Given the description of an element on the screen output the (x, y) to click on. 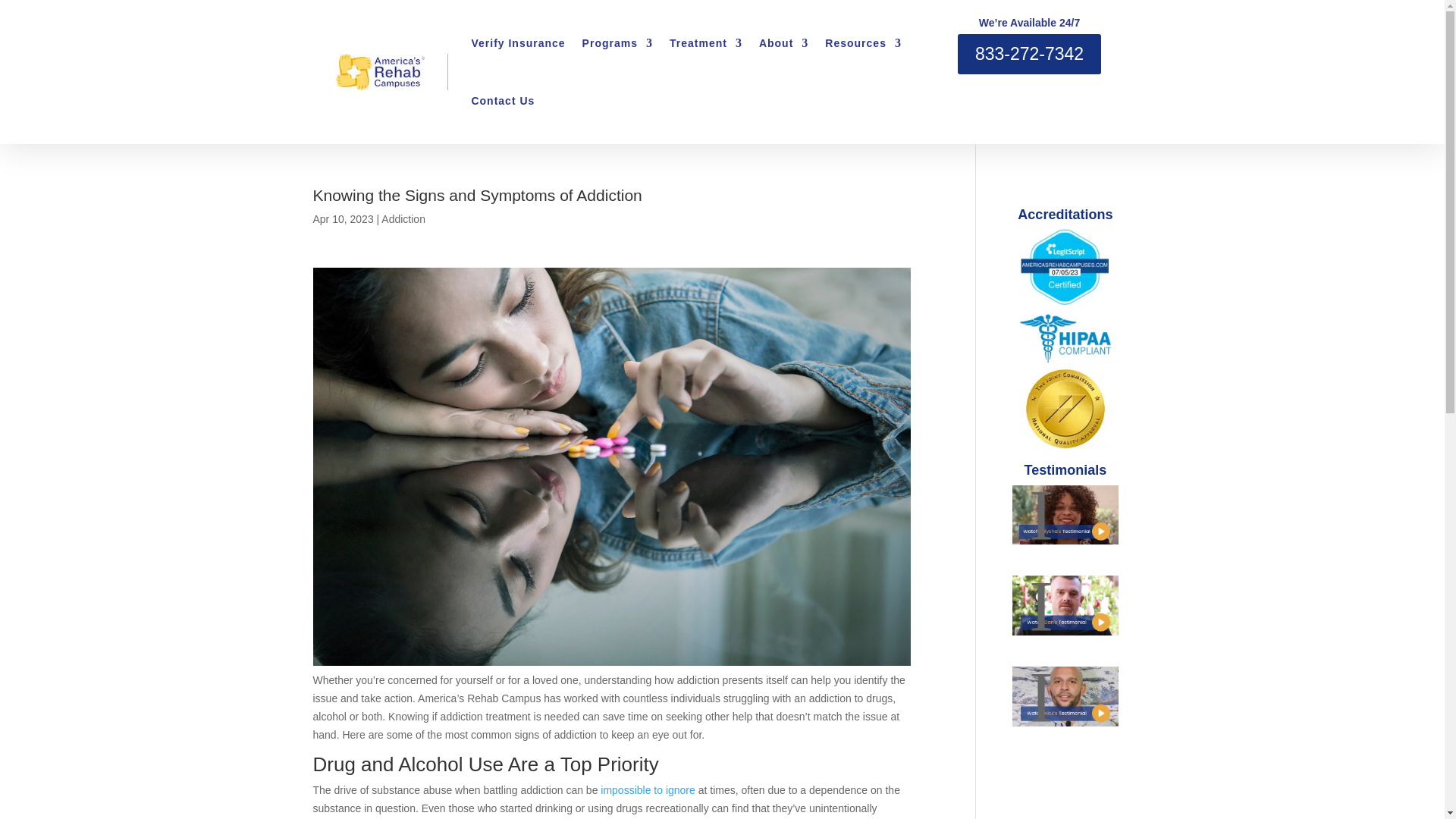
What We Treat (705, 43)
Programs (617, 43)
Our Programs (617, 43)
Treatment (705, 43)
Resources (863, 43)
Verify Insurance (517, 43)
Verify Insurance (517, 43)
Contact Us (502, 100)
